Given the description of an element on the screen output the (x, y) to click on. 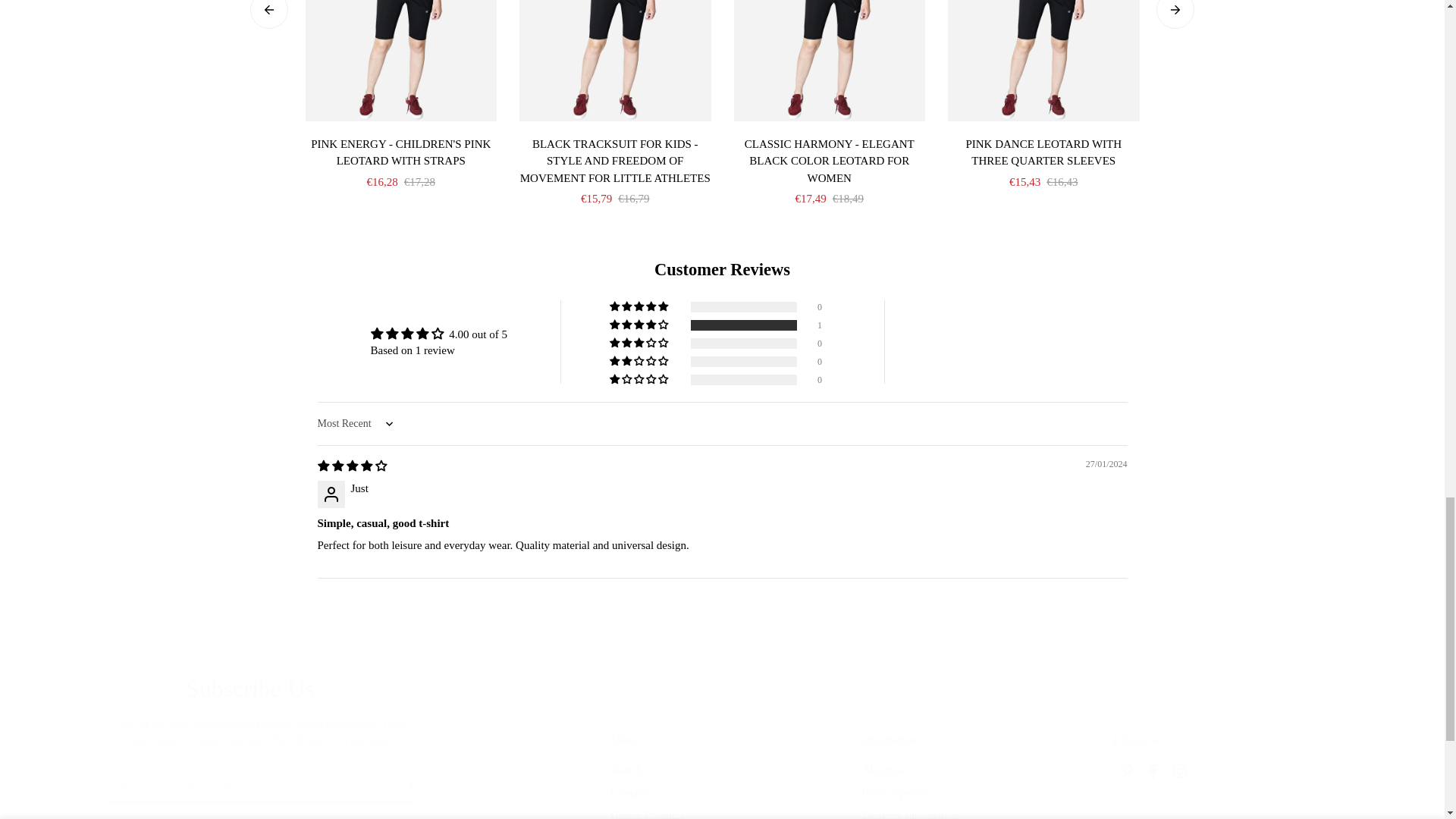
Follow us (1225, 756)
